Given the description of an element on the screen output the (x, y) to click on. 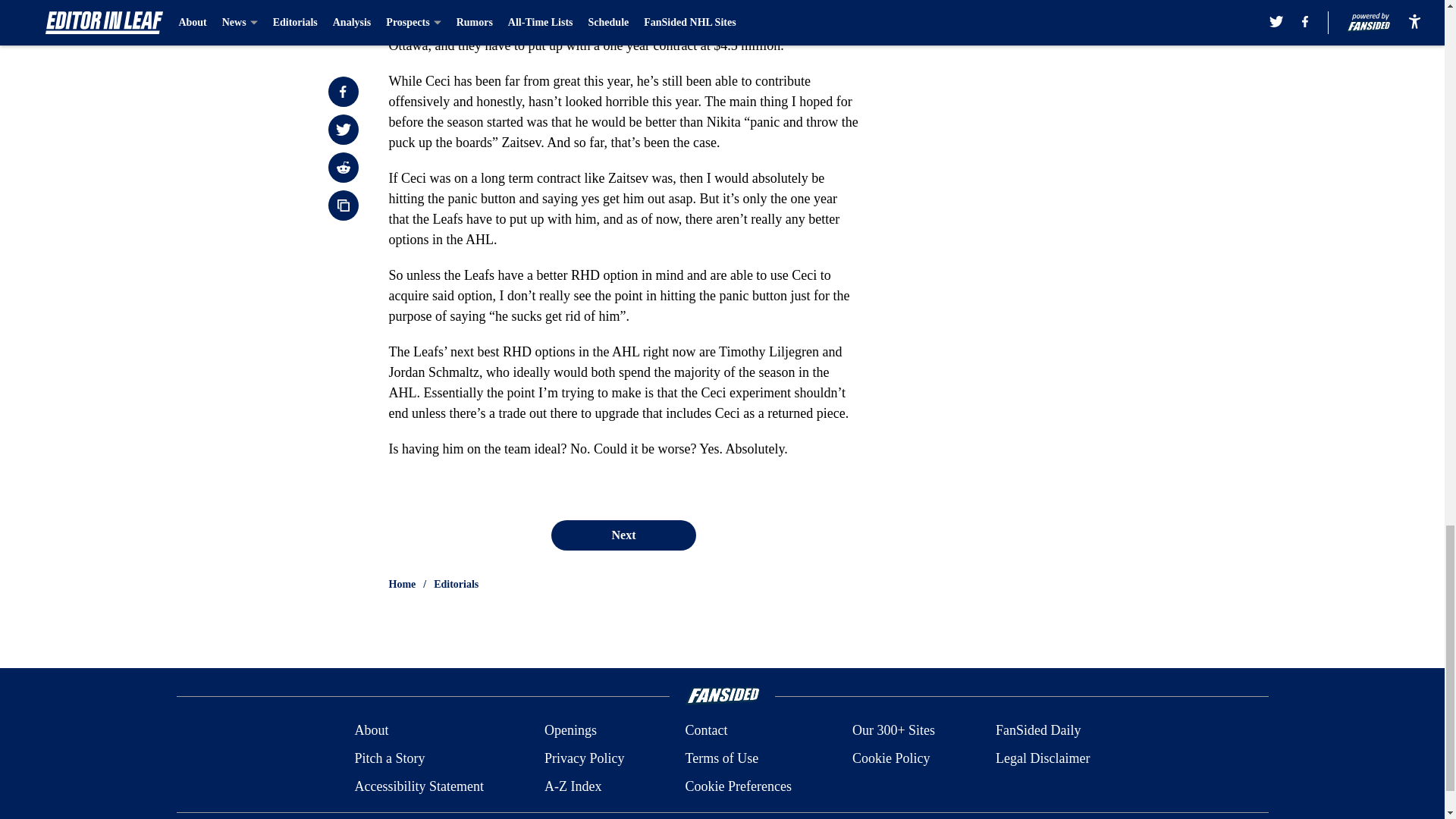
FanSided Daily (1038, 730)
Pitch a Story (389, 758)
Home (401, 584)
Terms of Use (721, 758)
Contact (705, 730)
Editorials (456, 584)
Next (622, 535)
Privacy Policy (584, 758)
Openings (570, 730)
About (370, 730)
